Given the description of an element on the screen output the (x, y) to click on. 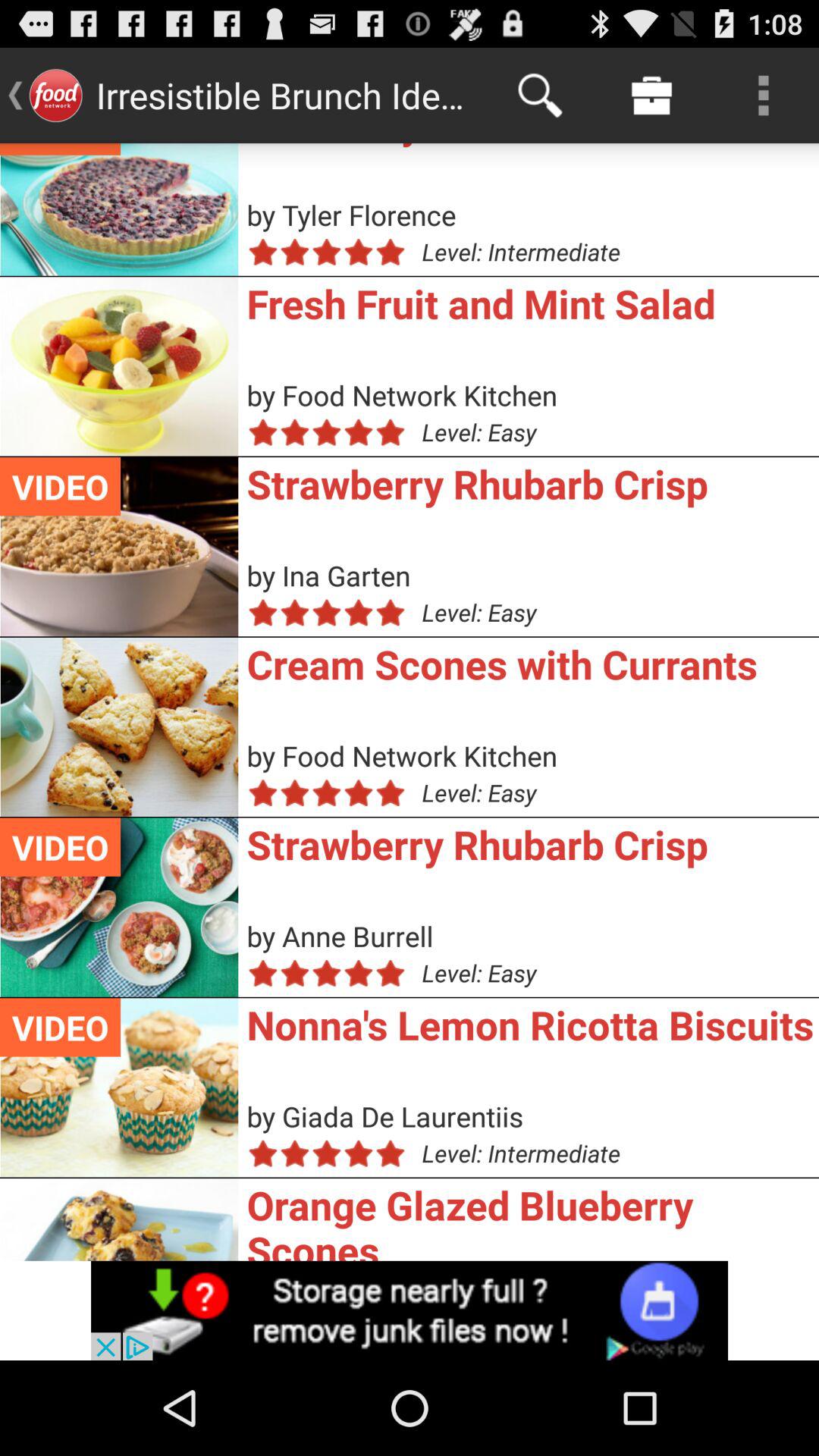
advertisement (409, 1310)
